Given the description of an element on the screen output the (x, y) to click on. 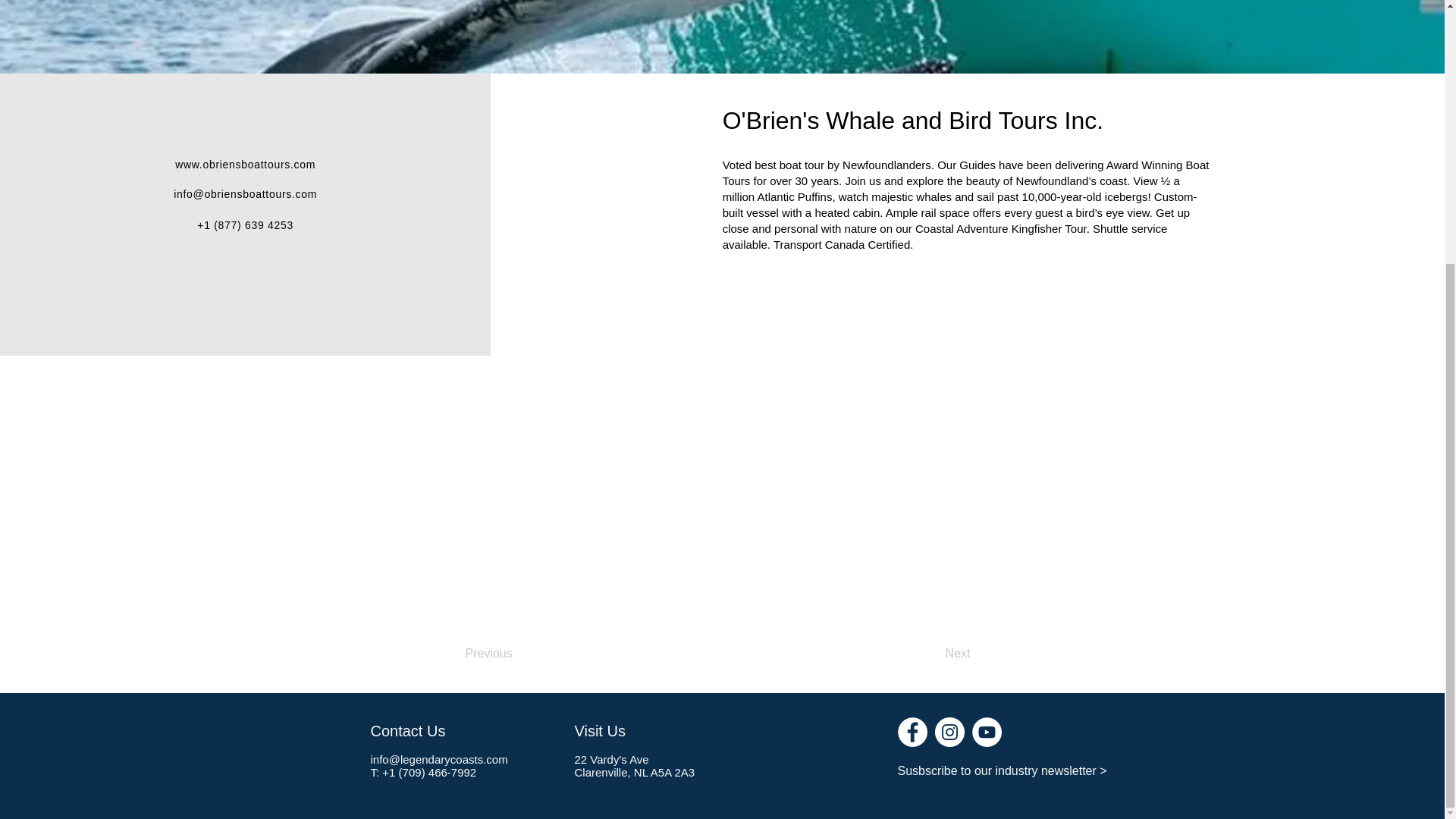
Previous (515, 653)
Next (933, 653)
www.obriensboattours.com (244, 164)
Contact Us (407, 730)
